Given the description of an element on the screen output the (x, y) to click on. 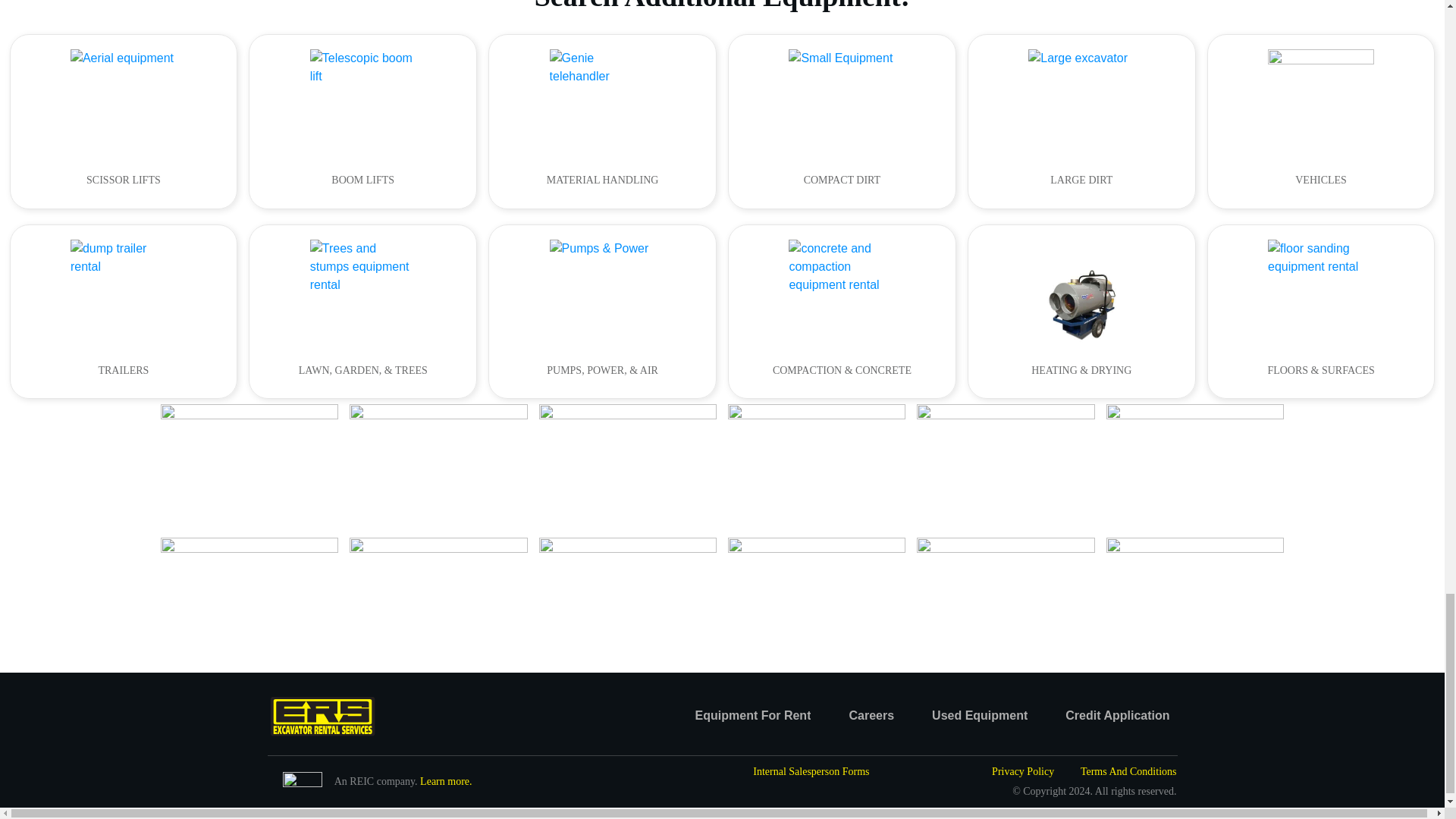
dump trailers icon real (122, 292)
TRAILERS (122, 311)
LARGE DIRT (1081, 121)
Telescopic boom lift icon real (363, 102)
VEHICLES (1321, 121)
large excavator icon real (1080, 102)
open-cab-utv-gator-icon-real (1321, 102)
COMPACT DIRT (842, 121)
MATERIAL HANDLING (601, 121)
scissor lift icon real (122, 102)
